Given the description of an element on the screen output the (x, y) to click on. 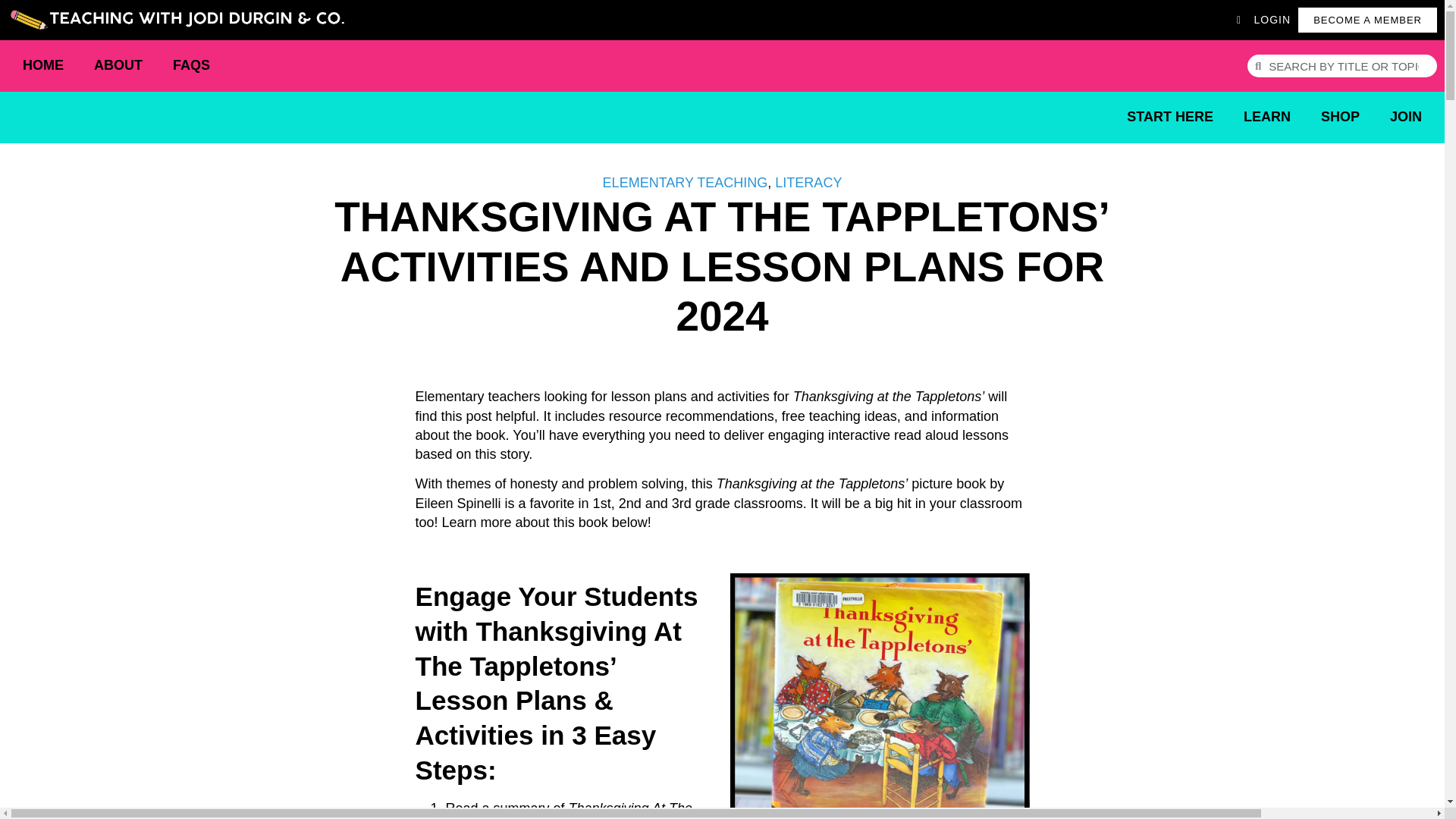
HOME (42, 65)
BECOME A MEMBER (1367, 19)
LOGIN (1263, 19)
SHOP (1340, 117)
LEARN (1267, 117)
FAQS (191, 65)
JOIN (1405, 117)
START HERE (1170, 117)
ABOUT (117, 65)
